Given the description of an element on the screen output the (x, y) to click on. 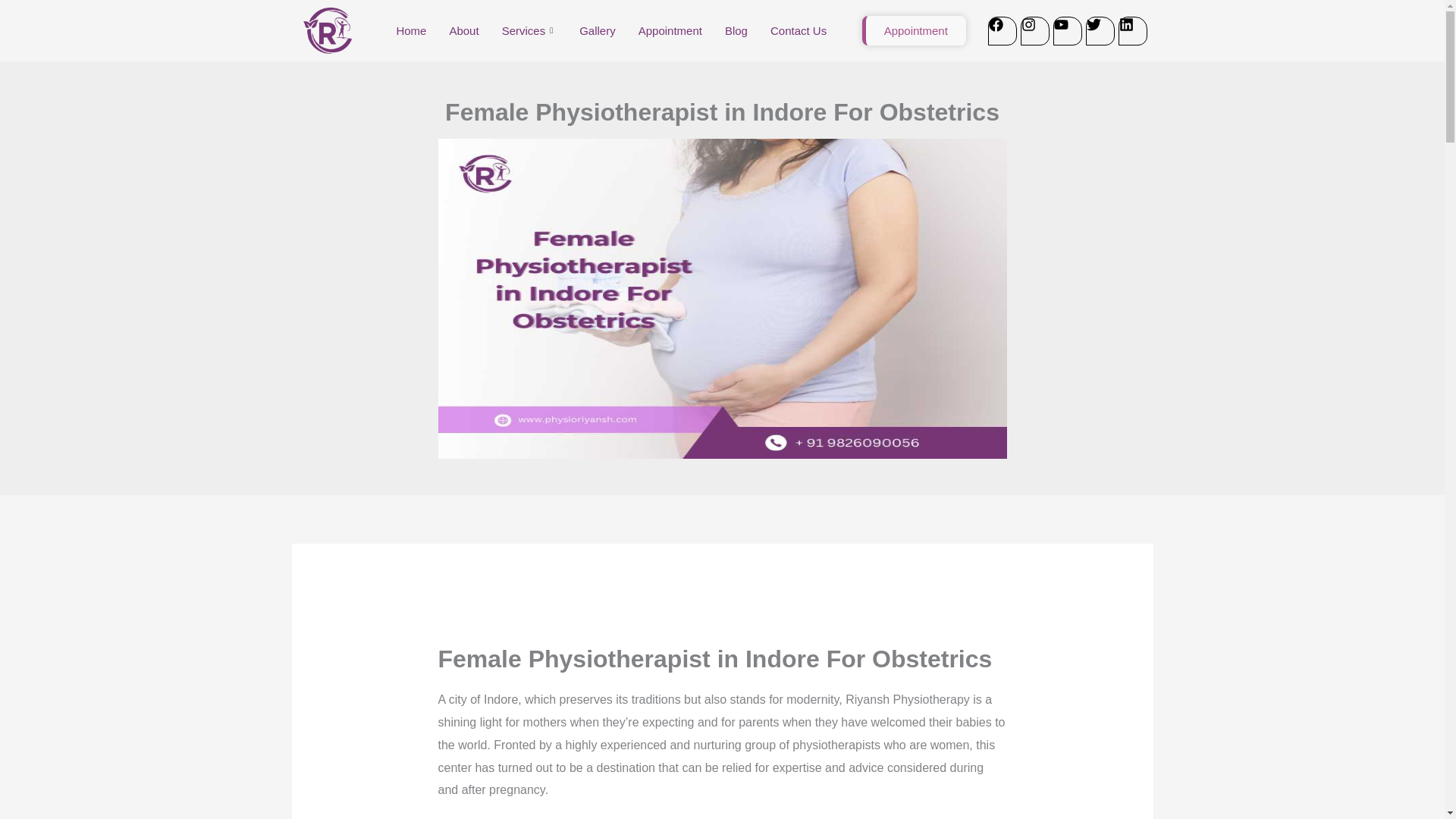
Instagram (1034, 30)
Appointment (670, 31)
Youtube (1066, 30)
Twitter (1100, 30)
Facebook (1001, 30)
Blog (735, 31)
Services (529, 31)
Linkedin (1132, 30)
Appointment (913, 30)
Gallery (597, 31)
Contact Us (798, 31)
About (463, 31)
Home (411, 31)
